Given the description of an element on the screen output the (x, y) to click on. 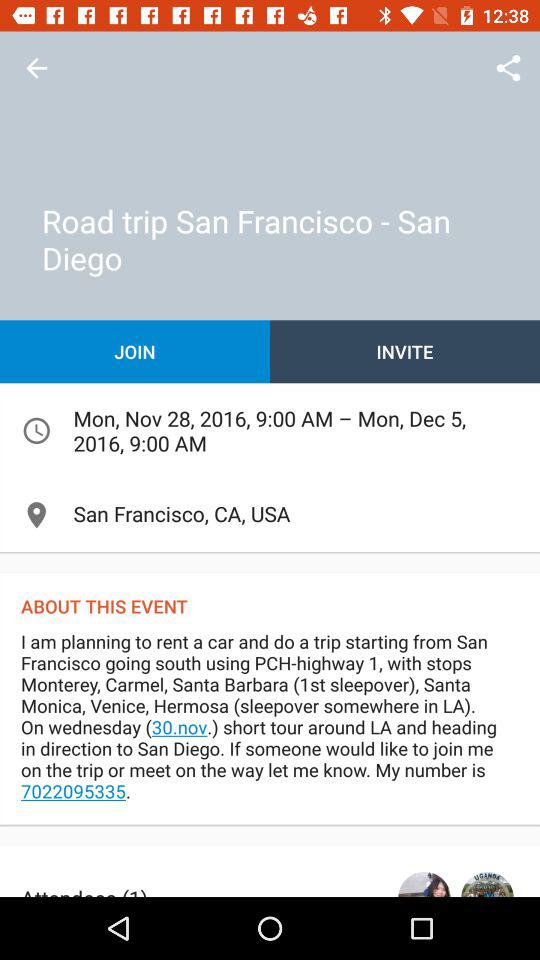
jump until invite icon (405, 351)
